Given the description of an element on the screen output the (x, y) to click on. 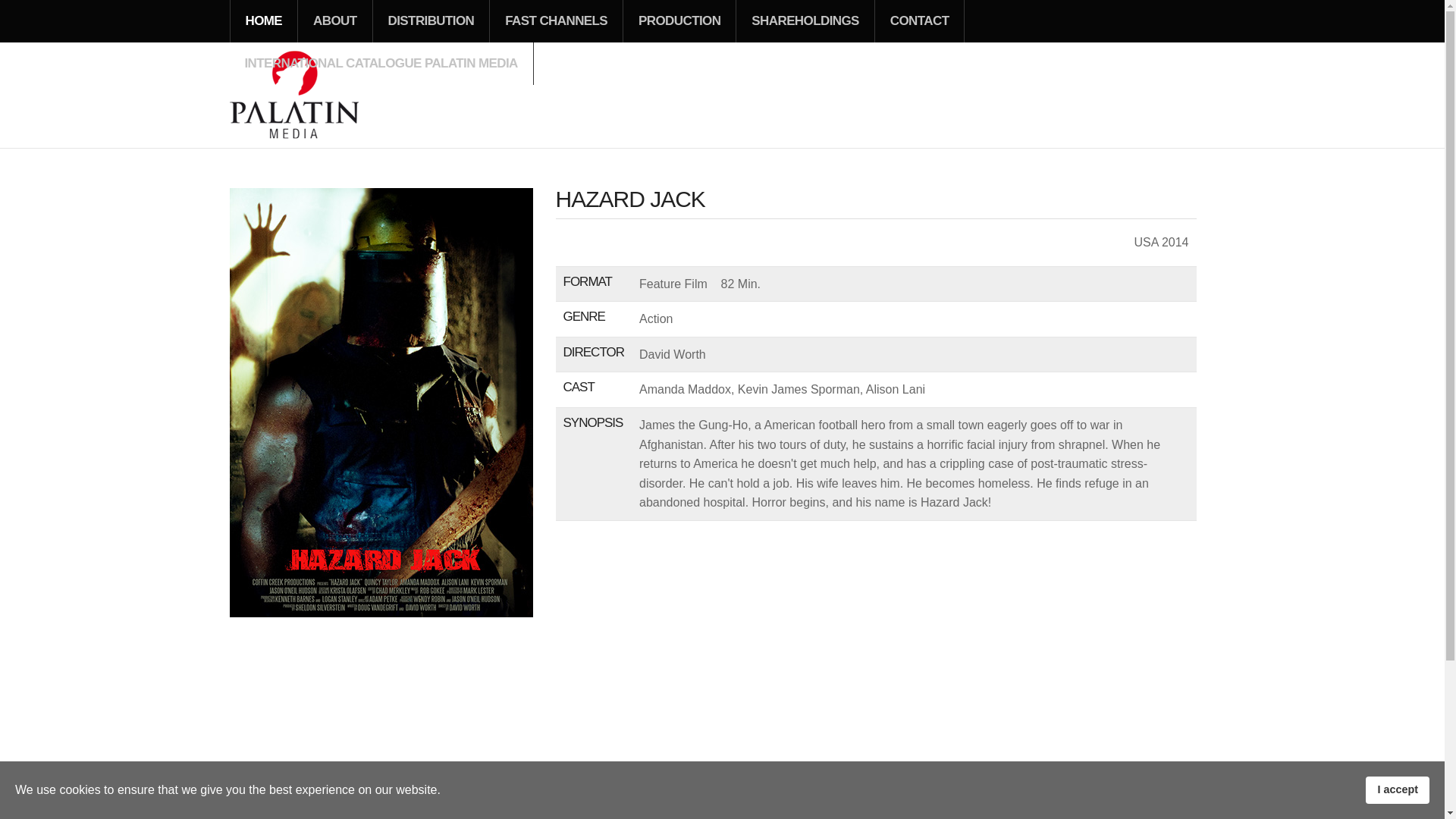
PRODUCTION (679, 21)
DISTRIBUTION (430, 21)
ABOUT (334, 21)
INTERNATIONAL CATALOGUE PALATIN MEDIA (380, 63)
SHAREHOLDINGS (804, 21)
CONTACT (919, 21)
HOME (264, 21)
FAST CHANNELS (556, 21)
I accept (1397, 789)
